Given the description of an element on the screen output the (x, y) to click on. 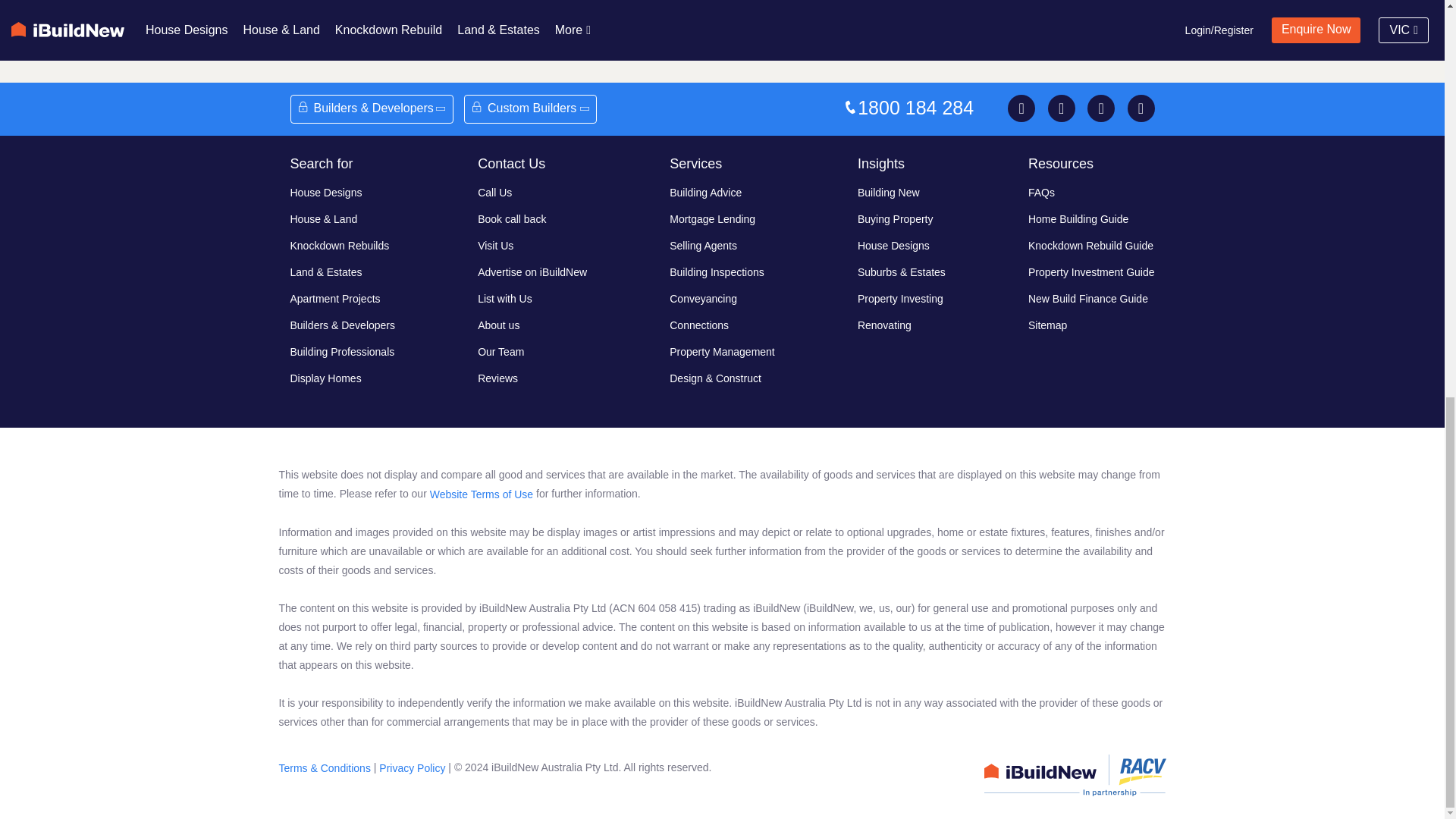
Terms of Service (877, 48)
Display Homes (325, 378)
Knockdown Rebuilds (338, 245)
Privacy Policy (782, 48)
House Designs (325, 192)
Subscribe (983, 6)
Apartment Projects (334, 298)
Building Professionals (341, 351)
1800 184 284 (921, 107)
Collection Statement. (862, 33)
Privacy Policy (754, 33)
